Given the description of an element on the screen output the (x, y) to click on. 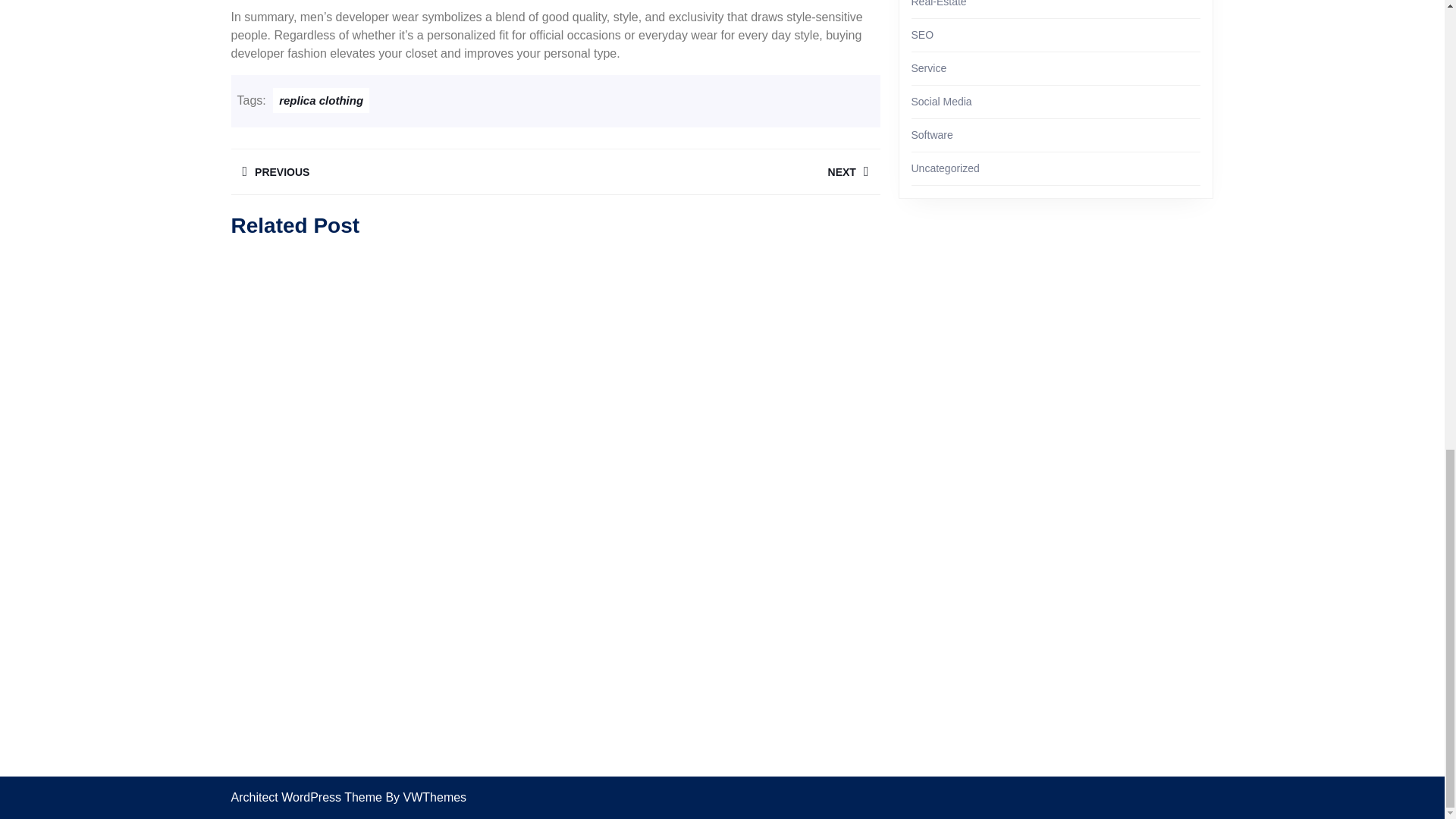
replica clothing (392, 171)
